Given the description of an element on the screen output the (x, y) to click on. 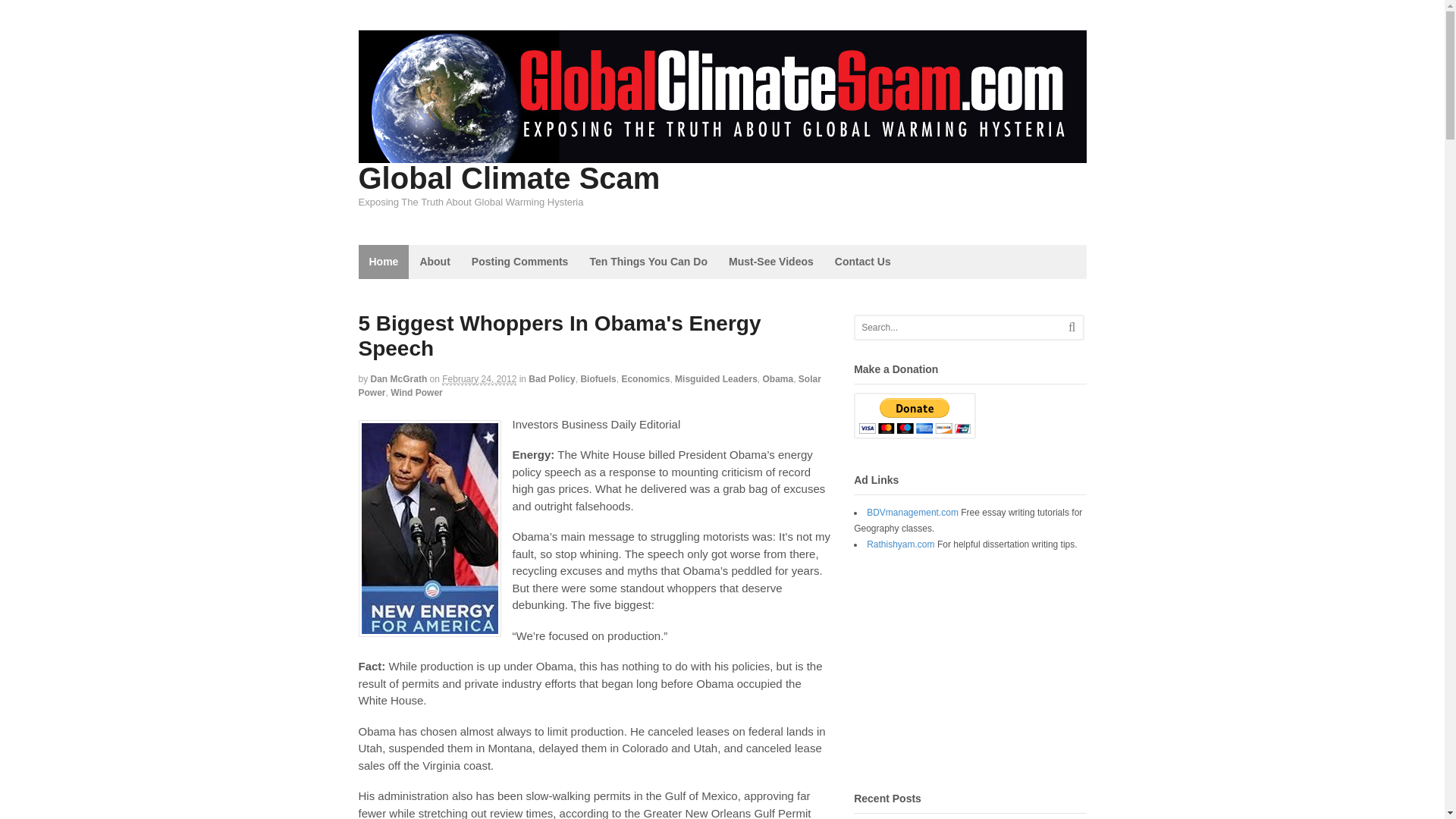
View all items in Wind Power (416, 392)
Misguided Leaders (716, 378)
About (434, 261)
Must-See Videos (770, 261)
BDVmanagement.com (912, 511)
Bad Policy (551, 378)
View all items in Obama (777, 378)
2012-02-24T13:01:22-0500 (479, 378)
Posts by Dan McGrath (399, 378)
Dan McGrath (399, 378)
